Given the description of an element on the screen output the (x, y) to click on. 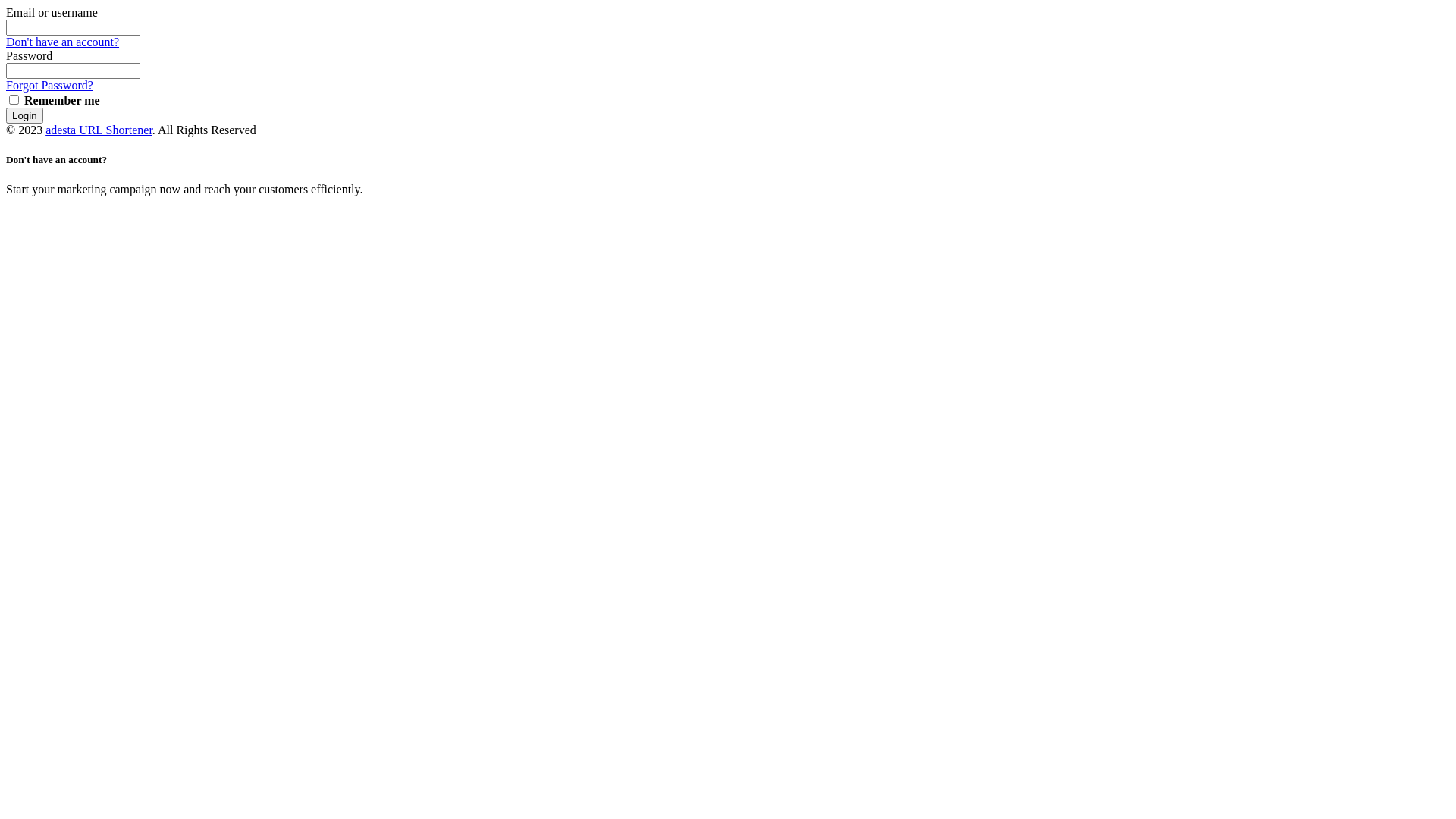
Login Element type: text (24, 115)
Don't have an account? Element type: text (62, 41)
Forgot Password? Element type: text (49, 84)
adesta URL Shortener Element type: text (98, 129)
